Given the description of an element on the screen output the (x, y) to click on. 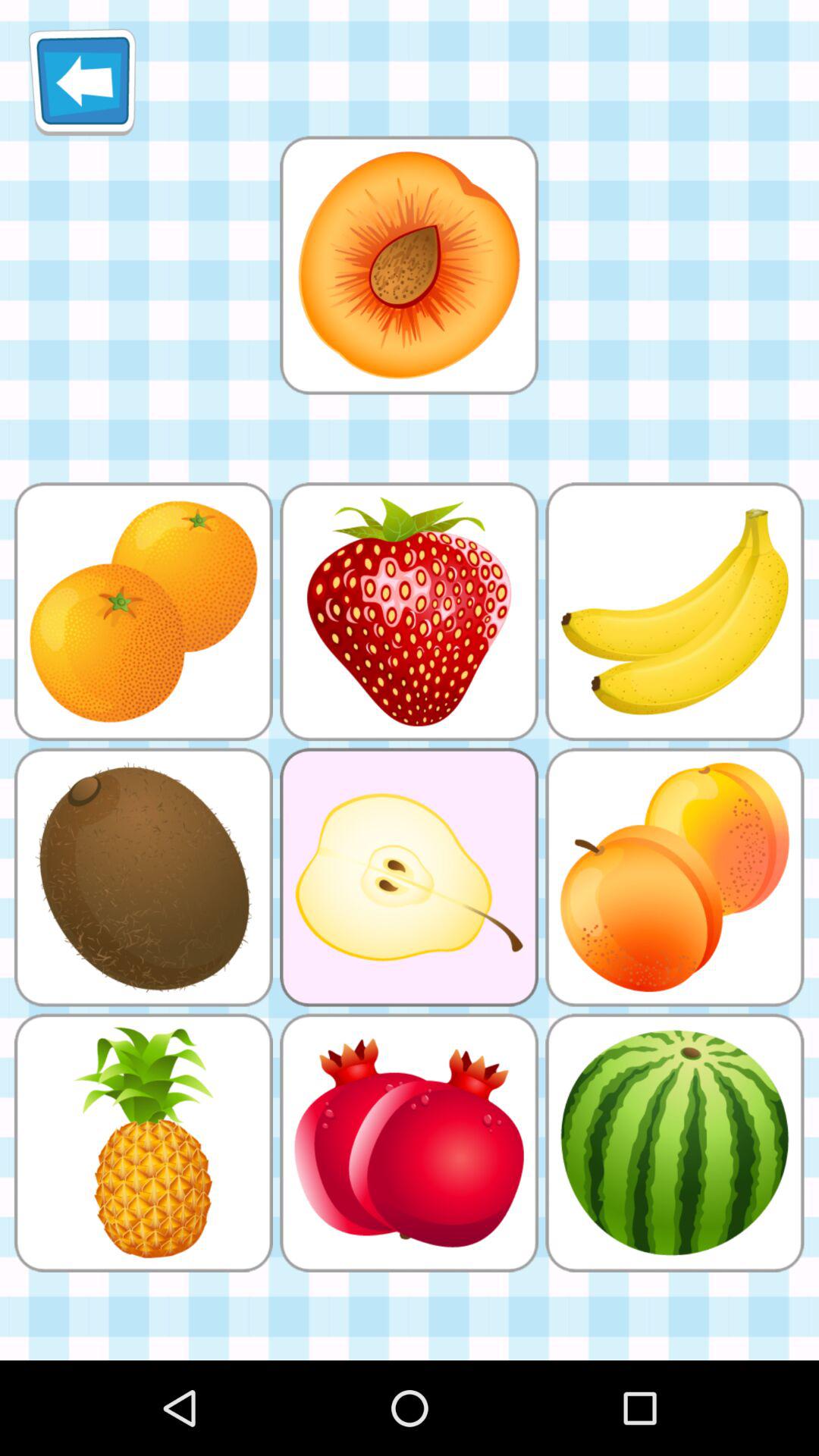
select image (409, 265)
